Given the description of an element on the screen output the (x, y) to click on. 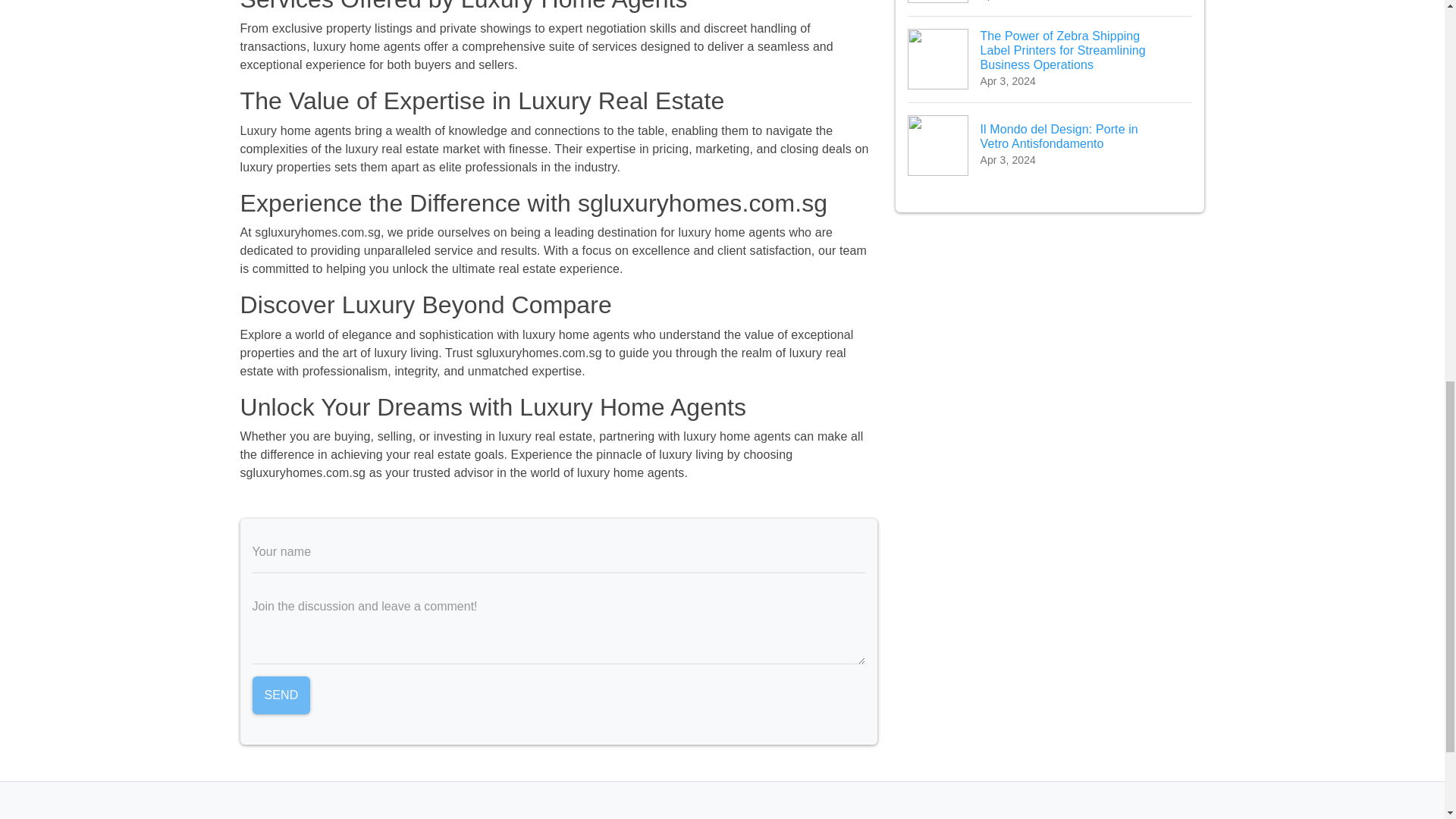
Privacy policy (670, 818)
Send (280, 695)
Terms of service (765, 818)
Send (280, 695)
